Given the description of an element on the screen output the (x, y) to click on. 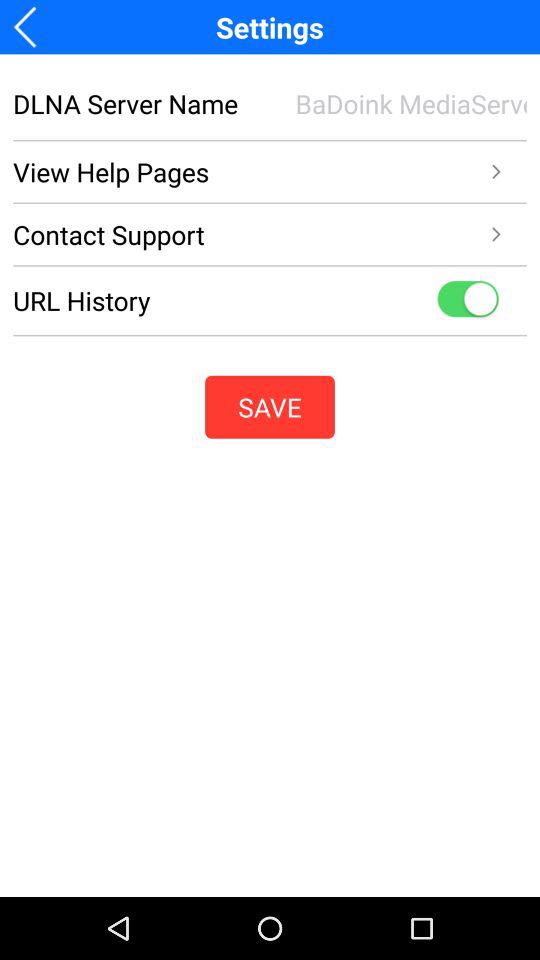
show url histoty (467, 300)
